Given the description of an element on the screen output the (x, y) to click on. 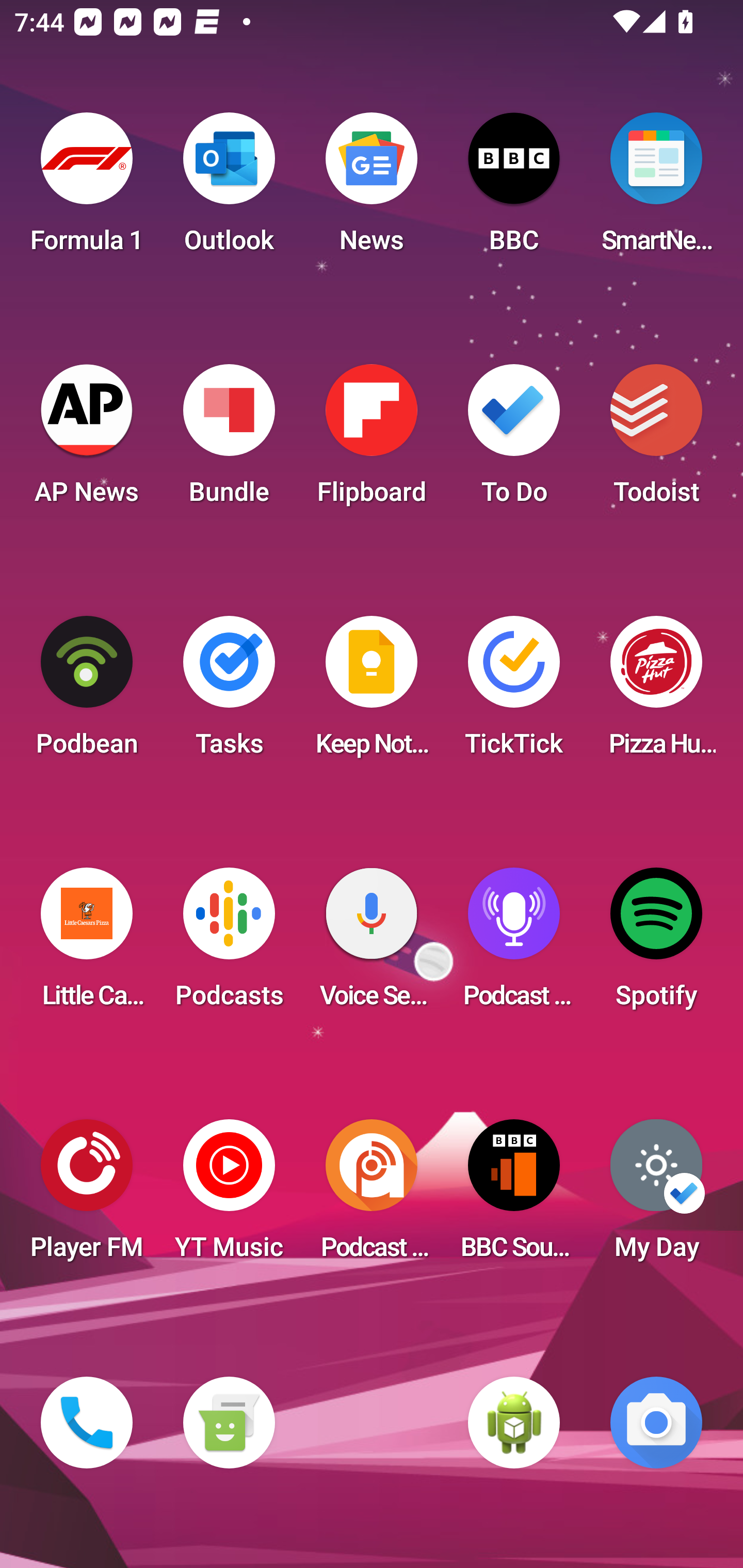
Formula 1 (86, 188)
Outlook (228, 188)
News (371, 188)
BBC (513, 188)
SmartNews (656, 188)
AP News (86, 440)
Bundle (228, 440)
Flipboard (371, 440)
To Do (513, 440)
Todoist (656, 440)
Podbean (86, 692)
Tasks (228, 692)
Keep Notes (371, 692)
TickTick (513, 692)
Pizza Hut HK & Macau (656, 692)
Little Caesars Pizza (86, 943)
Podcasts (228, 943)
Voice Search (371, 943)
Podcast Player (513, 943)
Spotify (656, 943)
Player FM (86, 1195)
YT Music (228, 1195)
Podcast Addict (371, 1195)
BBC Sounds (513, 1195)
My Day (656, 1195)
Phone (86, 1422)
Messaging (228, 1422)
WebView Browser Tester (513, 1422)
Camera (656, 1422)
